Given the description of an element on the screen output the (x, y) to click on. 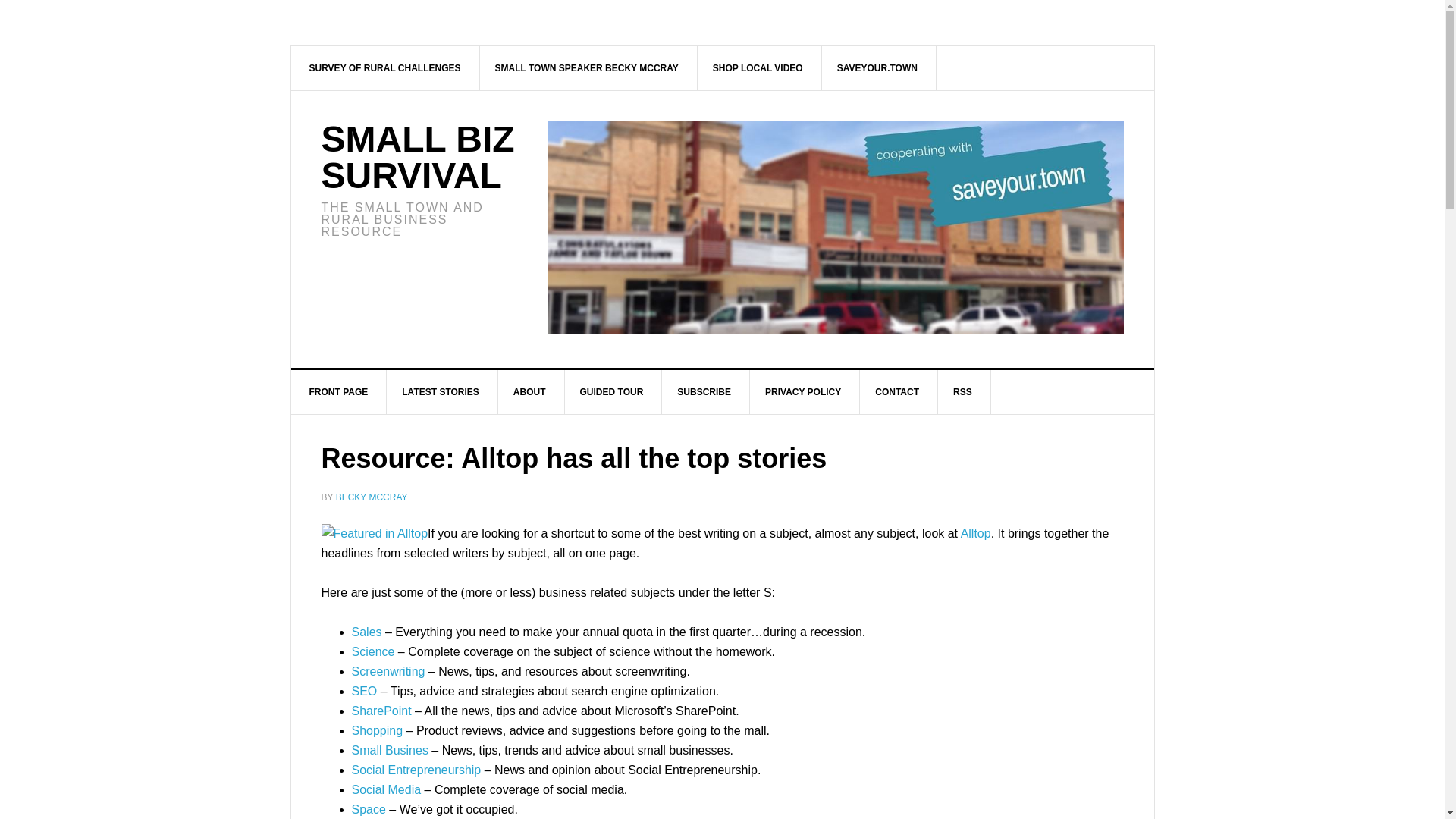
SmallBizSurvival.com cooperating with SaveYour.Town (835, 227)
PRIVACY POLICY (803, 392)
SharePoint (382, 710)
FRONT PAGE (339, 392)
GUIDED TOUR (612, 392)
SMALL BIZ SURVIVAL (418, 156)
LATEST STORIES (440, 392)
SUBSCRIBE (704, 392)
Shopping (377, 730)
Social Media (387, 789)
CONTACT (897, 392)
Sales (366, 631)
BECKY MCCRAY (371, 497)
Alltop (975, 533)
SURVEY OF RURAL CHALLENGES (385, 67)
